Given the description of an element on the screen output the (x, y) to click on. 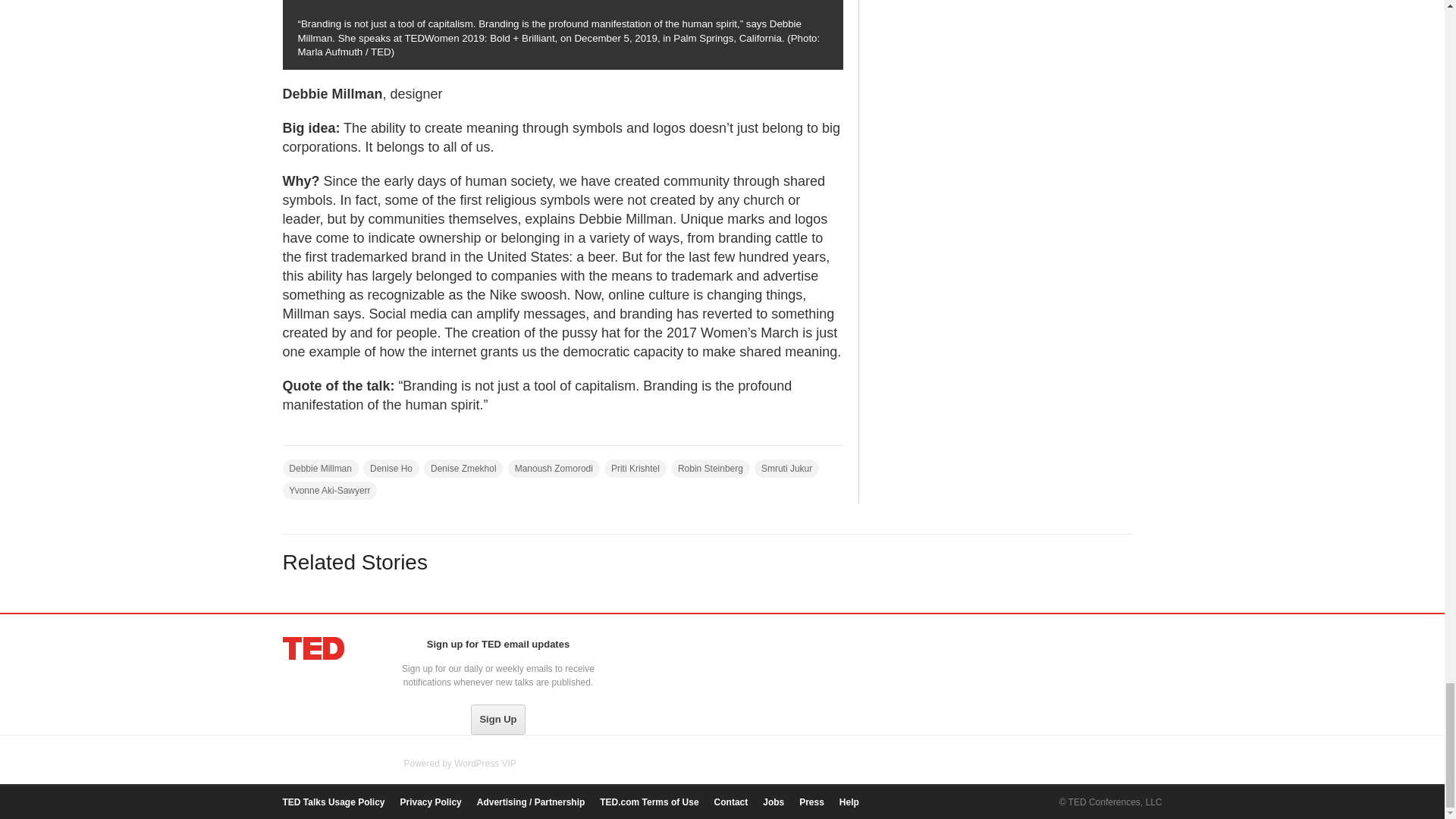
Priti Krishtel (635, 468)
TED (313, 648)
Robin Steinberg (710, 468)
WordPress VIP (485, 763)
Smruti Jukur (786, 468)
Sign Up (497, 719)
Denise Zmekhol (462, 468)
TED.com (313, 648)
Yvonne Aki-Sawyerr (329, 490)
Debbie Millman (320, 468)
Sign Up (497, 719)
Manoush Zomorodi (553, 468)
Denise Ho (390, 468)
